Given the description of an element on the screen output the (x, y) to click on. 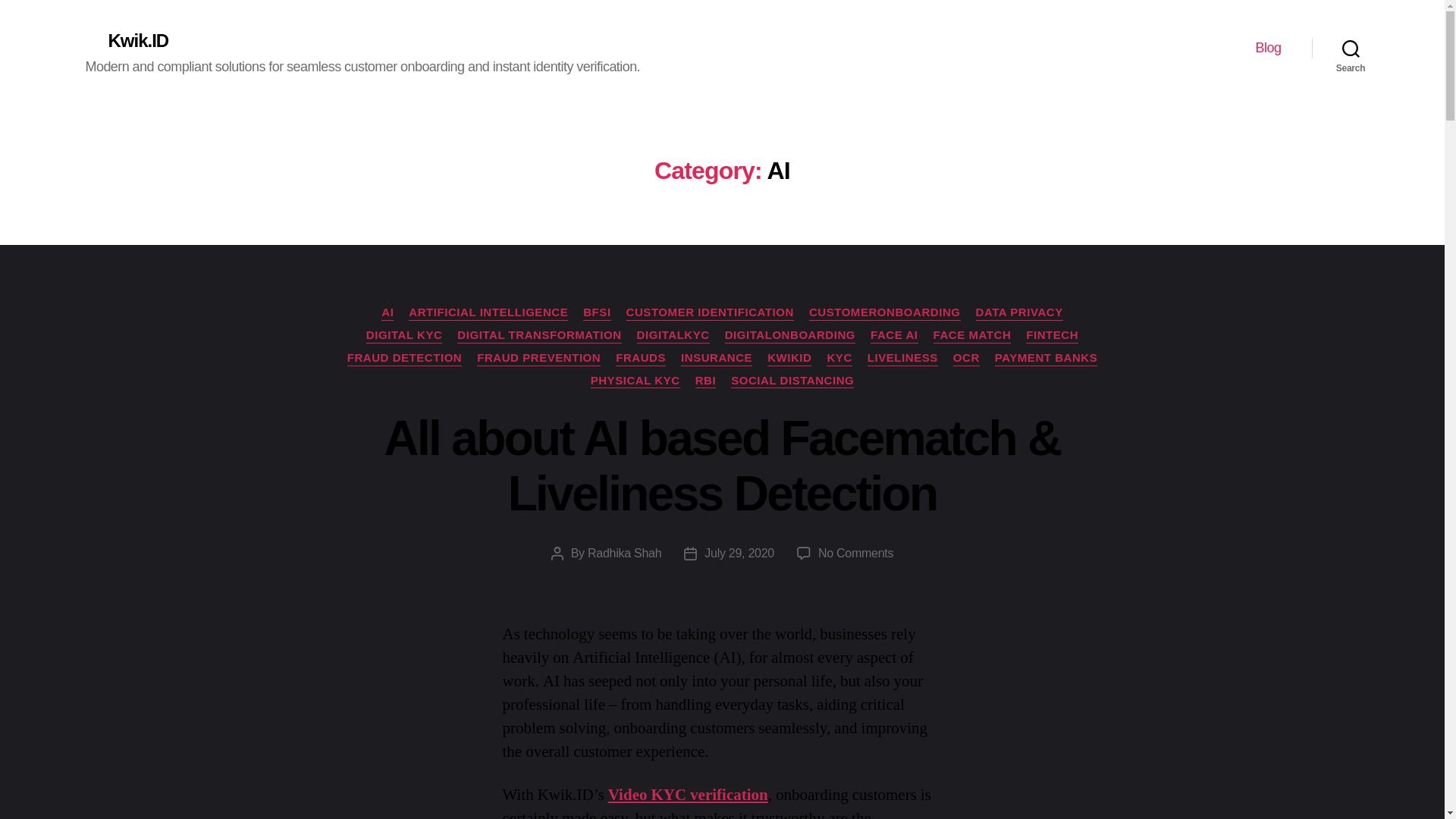
PHYSICAL KYC (635, 381)
Video KYC verification (688, 794)
ARTIFICIAL INTELLIGENCE (488, 313)
Radhika Shah (624, 553)
PAYMENT BANKS (1045, 358)
FACE AI (893, 335)
Blog (1268, 48)
RBI (705, 381)
FRAUD PREVENTION (538, 358)
FRAUDS (640, 358)
FRAUD DETECTION (405, 358)
DATA PRIVACY (1018, 313)
Kwik.ID (126, 36)
INSURANCE (716, 358)
CUSTOMERONBOARDING (884, 313)
